Given the description of an element on the screen output the (x, y) to click on. 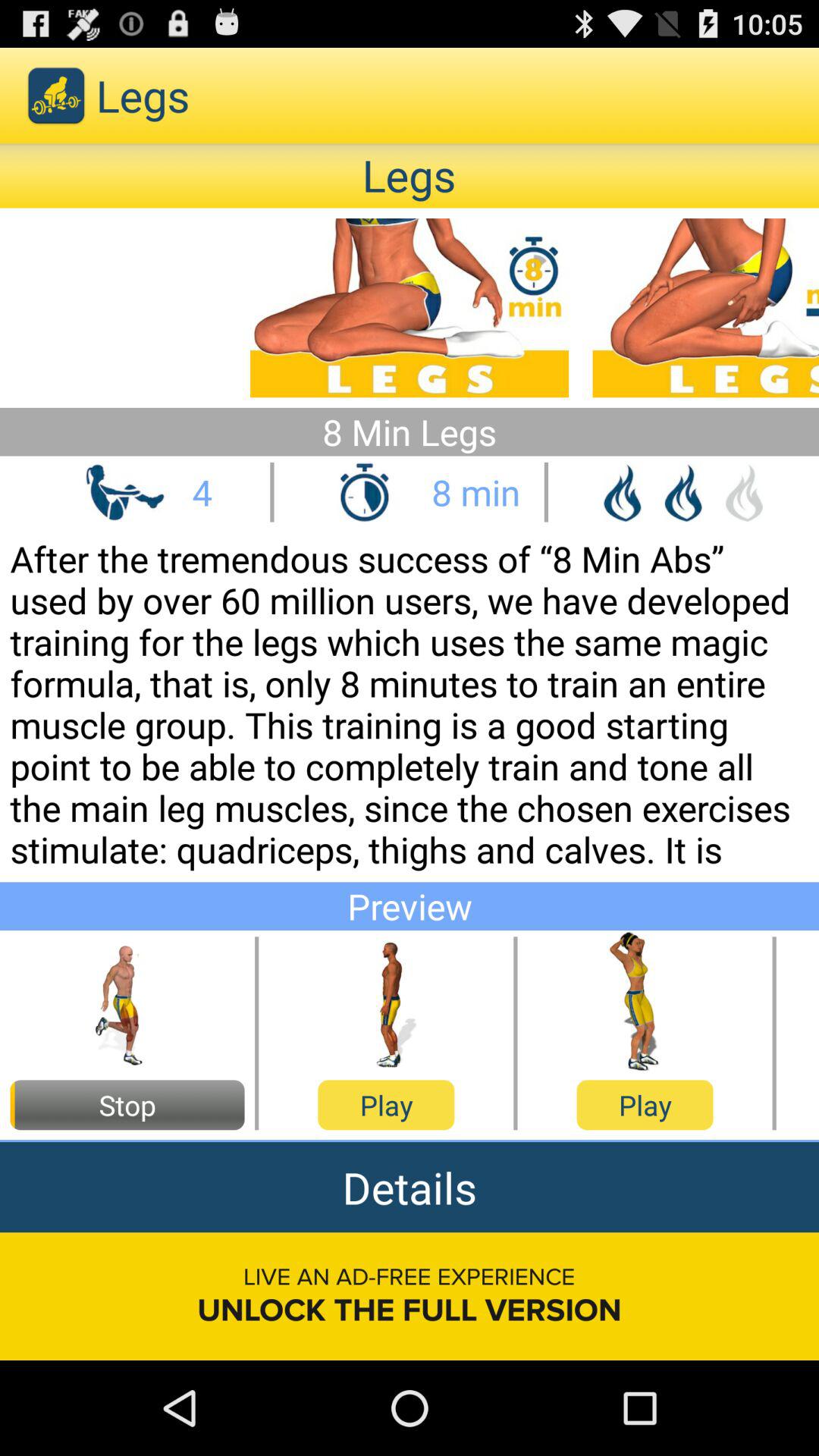
swipe to the stop button (127, 1105)
